Given the description of an element on the screen output the (x, y) to click on. 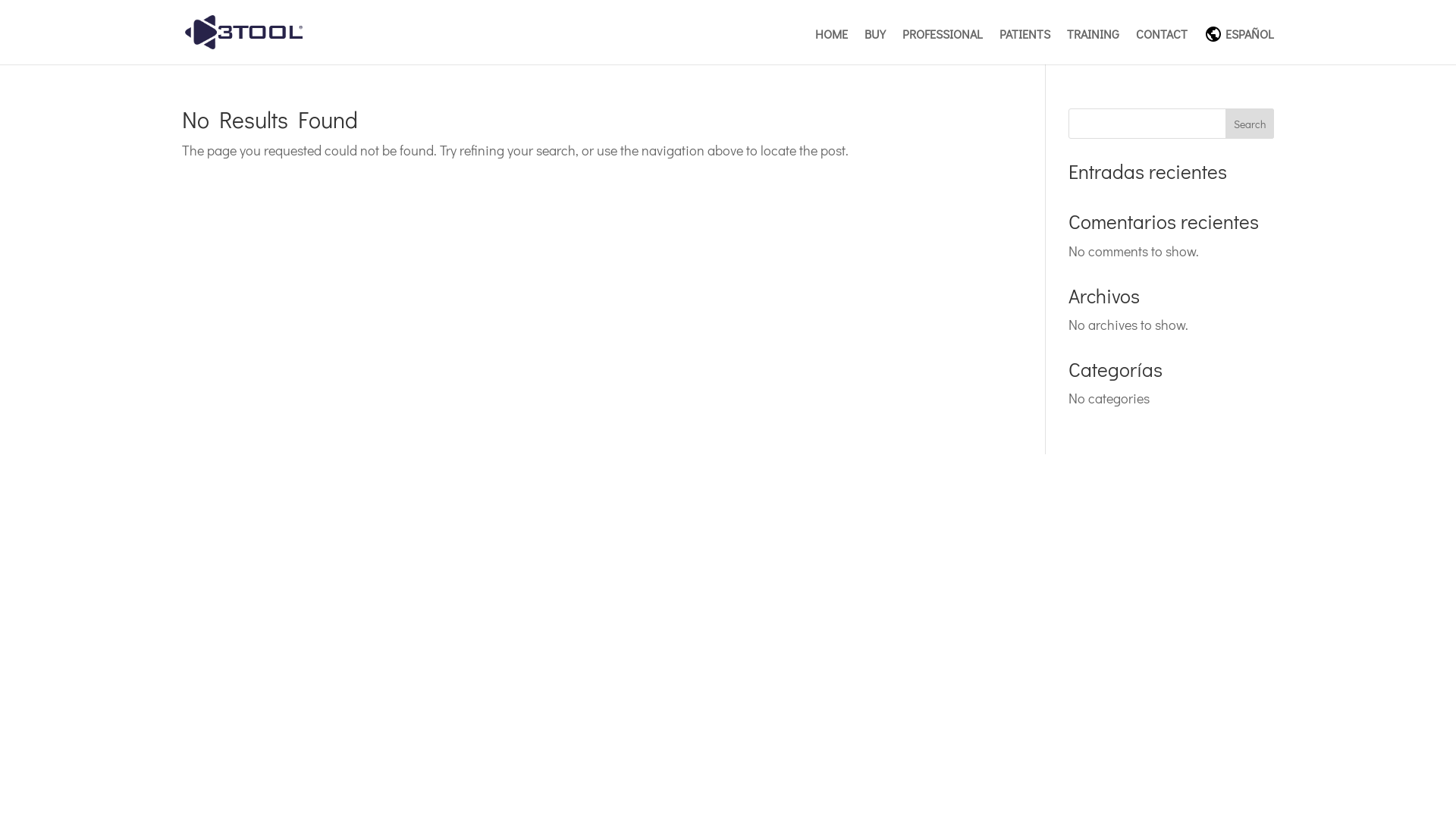
BUY Element type: text (874, 44)
PATIENTS Element type: text (1024, 44)
TRAINING Element type: text (1092, 44)
CONTACT Element type: text (1161, 44)
HOME Element type: text (831, 44)
PROFESSIONAL Element type: text (942, 44)
Search Element type: text (1249, 123)
